Given the description of an element on the screen output the (x, y) to click on. 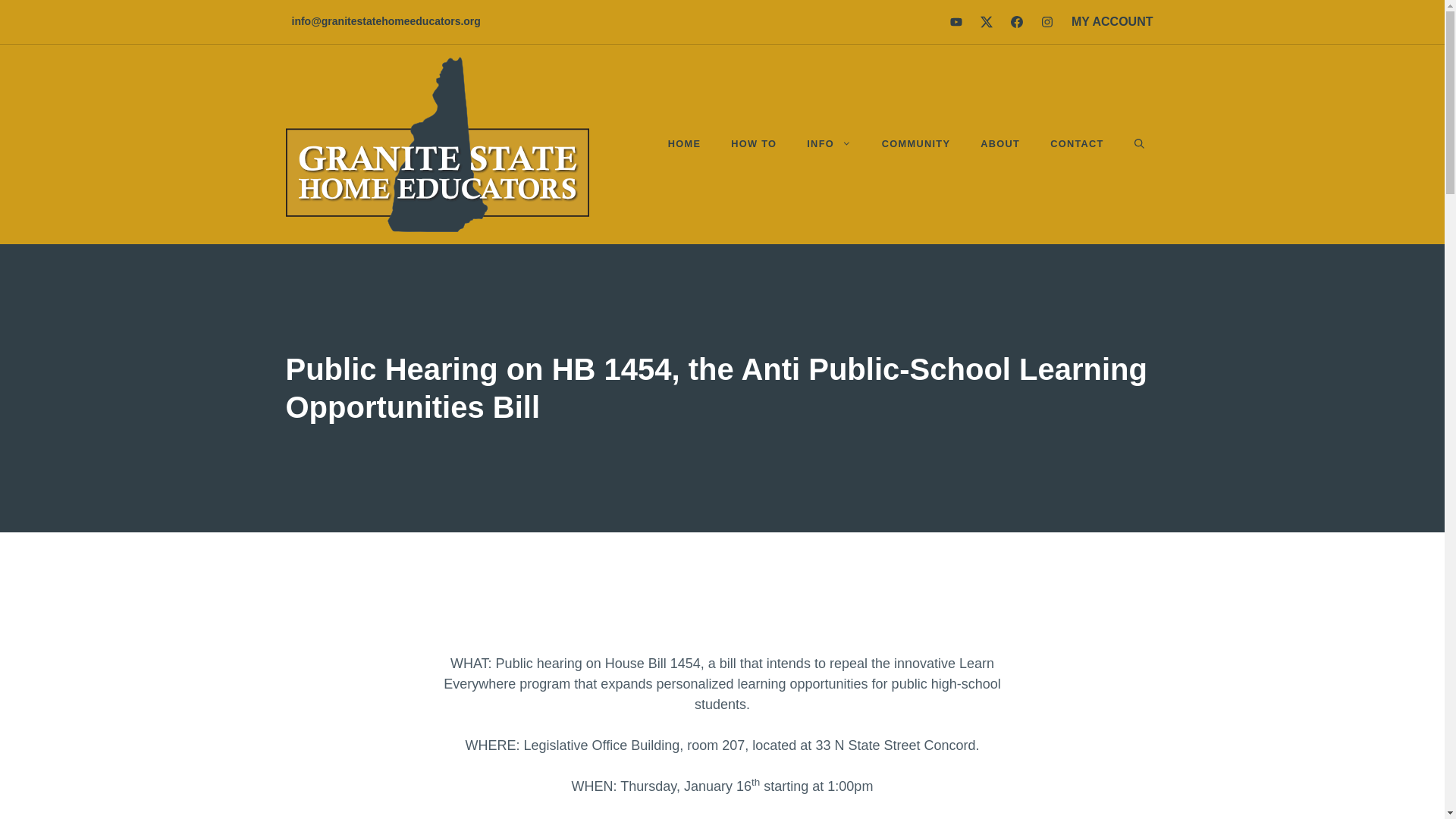
HOME (684, 143)
MY ACCOUNT (1112, 21)
INFO (829, 143)
HOW TO (754, 143)
ABOUT (1000, 143)
CONTACT (1077, 143)
COMMUNITY (915, 143)
